Given the description of an element on the screen output the (x, y) to click on. 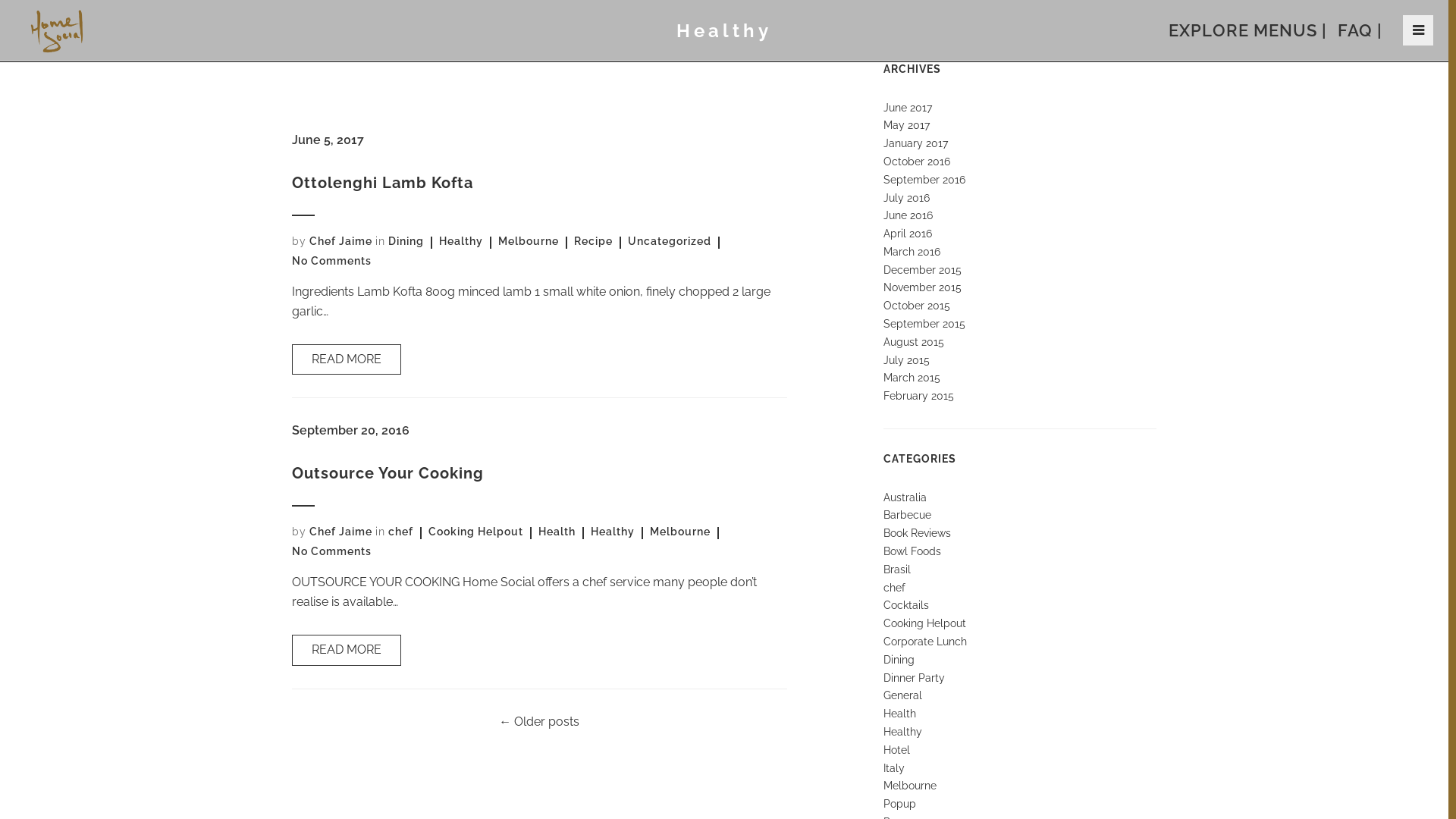
October 2015 Element type: text (916, 305)
Chef Jaime Element type: text (340, 241)
Australia Element type: text (904, 497)
Bowl Foods Element type: text (912, 551)
Melbourne Element type: text (909, 785)
June 2016 Element type: text (907, 215)
No Comments Element type: text (331, 551)
Ottolenghi Lamb Kofta Element type: text (382, 182)
August 2015 Element type: text (913, 341)
No Comments Element type: text (331, 260)
February 2015 Element type: text (918, 395)
June 2017 Element type: text (907, 107)
November 2015 Element type: text (922, 287)
READ MORE Element type: text (346, 359)
October 2016 Element type: text (916, 161)
December 2015 Element type: text (922, 269)
May 2017 Element type: text (906, 125)
March 2016 Element type: text (911, 251)
Older posts Element type: text (545, 721)
Brasil Element type: text (896, 569)
Corporate Lunch Element type: text (924, 641)
EXPLORE MENUS | Element type: text (1247, 30)
Cocktails Element type: text (905, 605)
Dining Element type: text (405, 241)
READ MORE Element type: text (346, 649)
Popup Element type: text (899, 803)
Book Reviews Element type: text (916, 533)
Melbourne Element type: text (528, 241)
chef Element type: text (400, 531)
Hotel Element type: text (896, 749)
Chef Jaime Element type: text (340, 531)
Melbourne Element type: text (679, 531)
Dinner Party Element type: text (913, 677)
Healthy Element type: text (612, 531)
April 2016 Element type: text (907, 233)
Cooking Helpout Element type: text (475, 531)
Health Element type: text (556, 531)
Healthy Element type: text (902, 731)
Health Element type: text (899, 713)
July 2015 Element type: text (906, 360)
Uncategorized Element type: text (669, 241)
FAQ | Element type: text (1359, 30)
General Element type: text (902, 695)
September 2016 Element type: text (924, 179)
Recipe Element type: text (593, 241)
January 2017 Element type: text (915, 143)
Healthy Element type: text (461, 241)
Italy Element type: text (893, 768)
Outsource Your Cooking Element type: text (387, 473)
July 2016 Element type: text (906, 197)
chef Element type: text (894, 587)
Barbecue Element type: text (907, 514)
September 2015 Element type: text (924, 323)
March 2015 Element type: text (911, 377)
Dining Element type: text (898, 659)
Cooking Helpout Element type: text (924, 623)
